Given the description of an element on the screen output the (x, y) to click on. 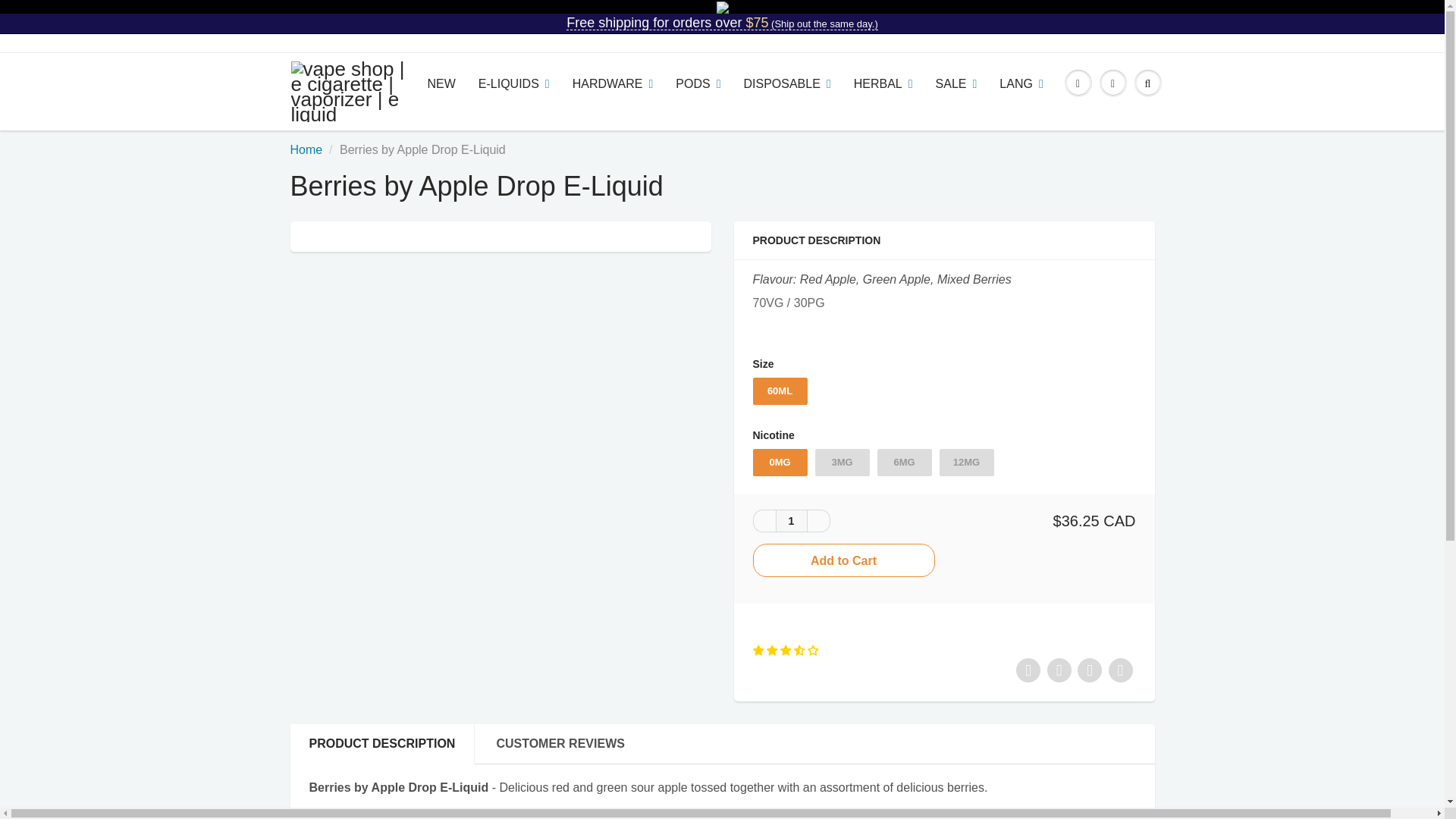
1 (790, 520)
Home (305, 149)
E-LIQUIDS (513, 84)
Add to Cart (843, 560)
